Given the description of an element on the screen output the (x, y) to click on. 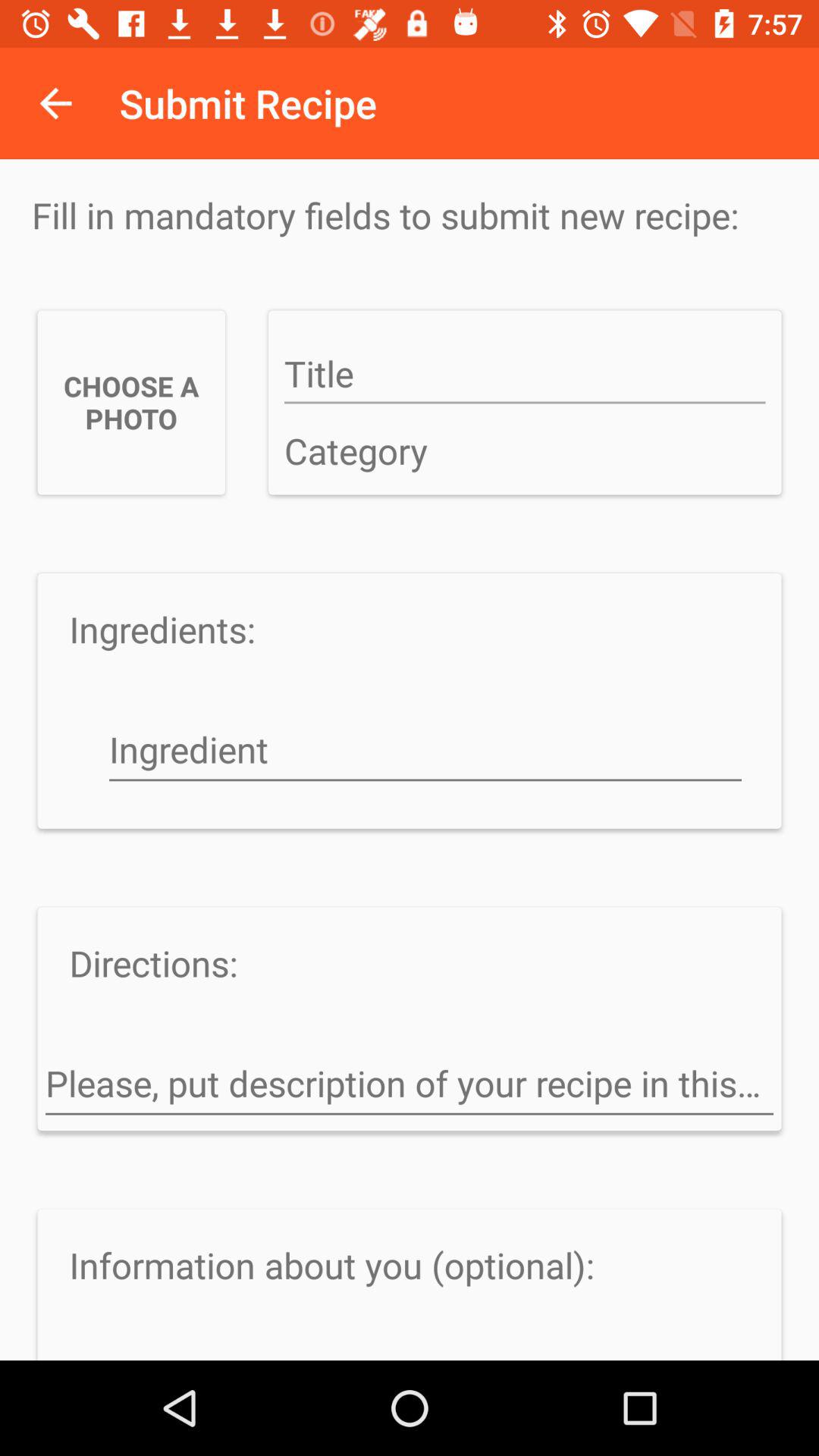
select third text box (425, 751)
